Given the description of an element on the screen output the (x, y) to click on. 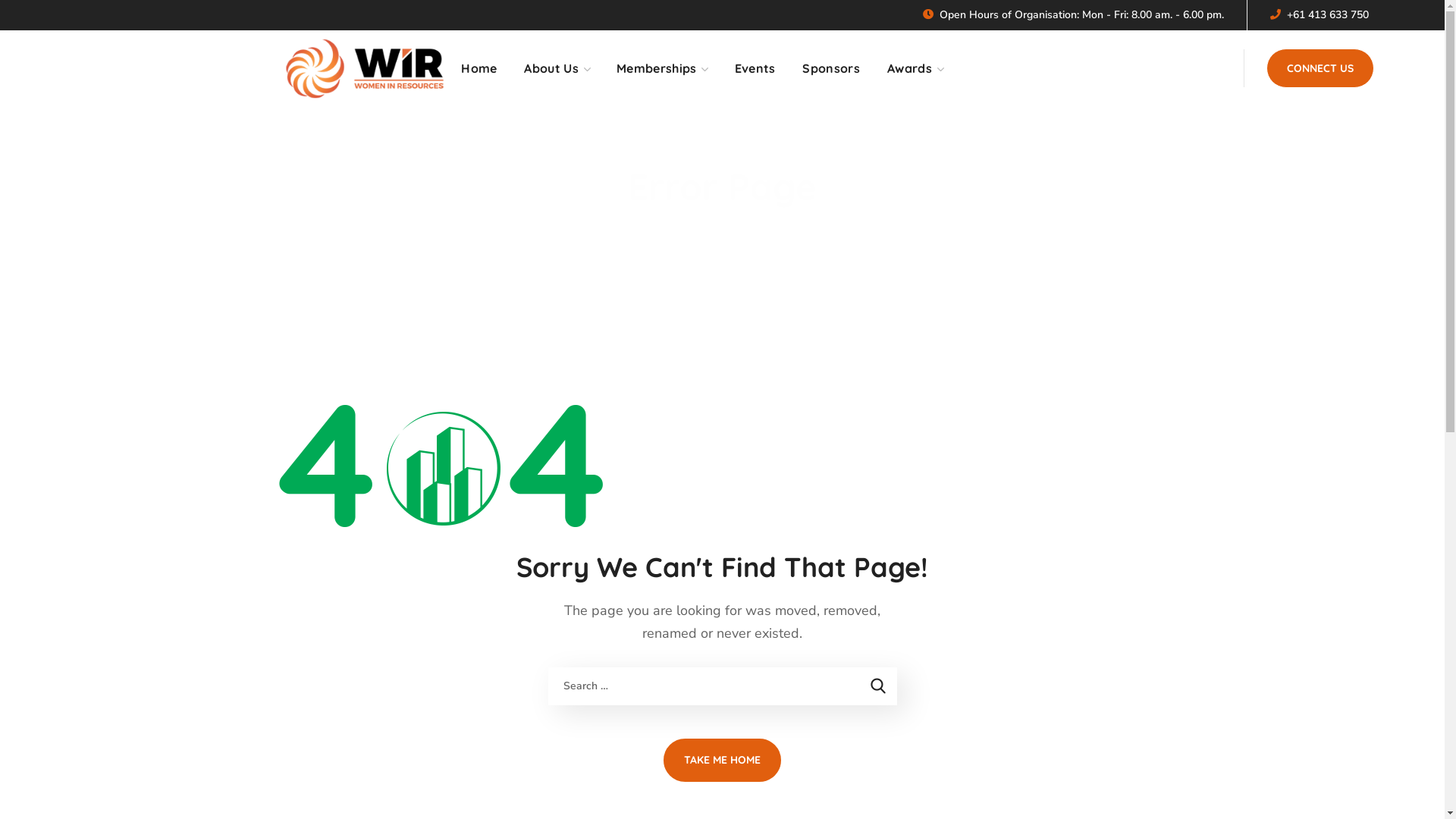
About Us Element type: text (556, 68)
CONNECT US Element type: text (1320, 67)
TAKE ME HOME Element type: text (722, 759)
Sponsors Element type: text (830, 68)
Home Element type: text (685, 236)
Search Element type: text (877, 686)
Home Element type: text (478, 68)
Awards Element type: text (914, 68)
Memberships Element type: text (661, 68)
Events Element type: text (755, 68)
+61 413 633 750 Element type: text (1327, 14)
